Given the description of an element on the screen output the (x, y) to click on. 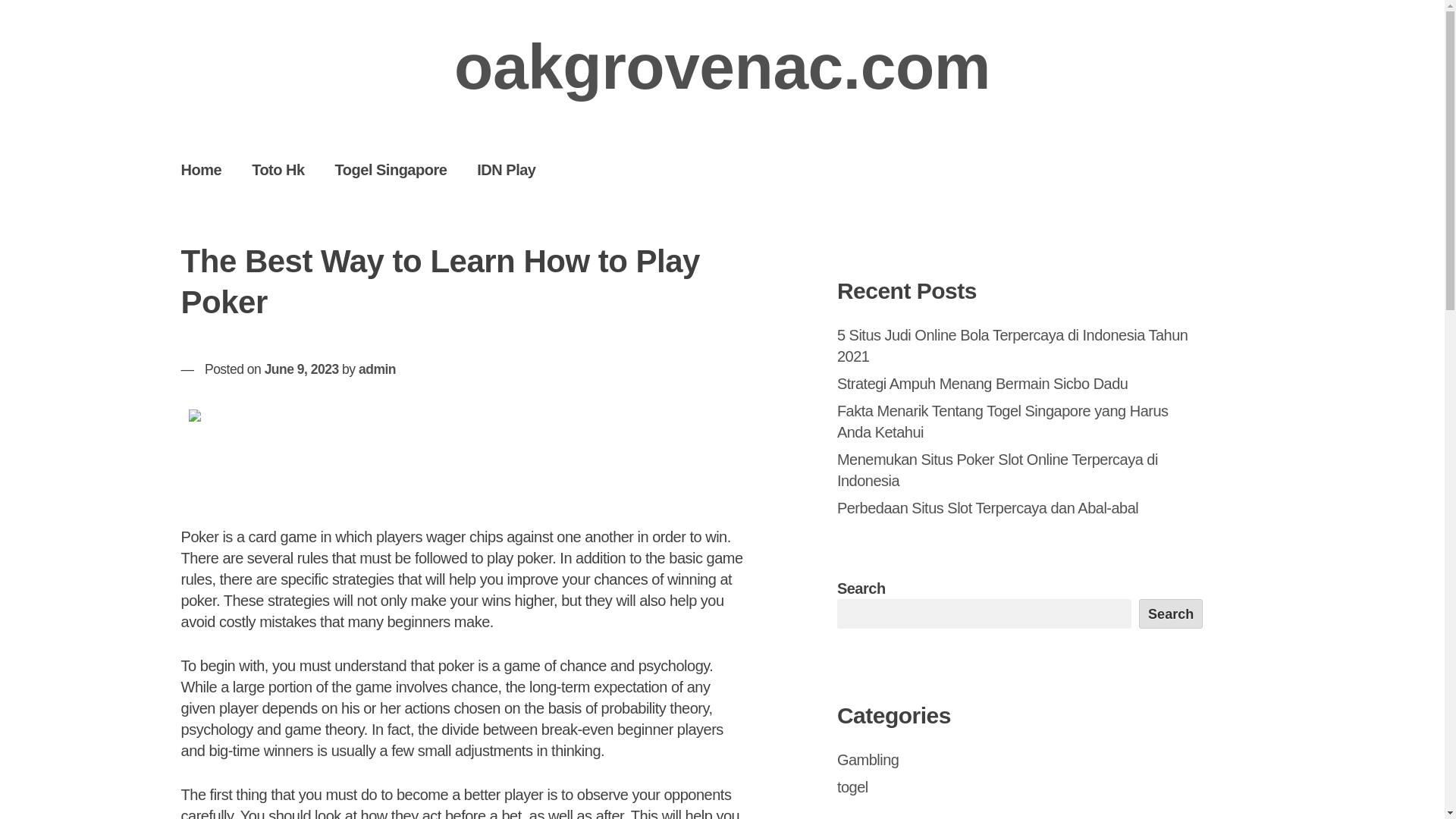
Home (201, 169)
Search (1171, 613)
Strategi Ampuh Menang Bermain Sicbo Dadu (982, 383)
June 9, 2023 (301, 368)
Toto Hk (276, 169)
Menemukan Situs Poker Slot Online Terpercaya di Indonesia (997, 469)
oakgrovenac.com (722, 66)
5 Situs Judi Online Bola Terpercaya di Indonesia Tahun 2021 (1012, 345)
Togel Singapore (391, 169)
IDN Play (505, 169)
